Given the description of an element on the screen output the (x, y) to click on. 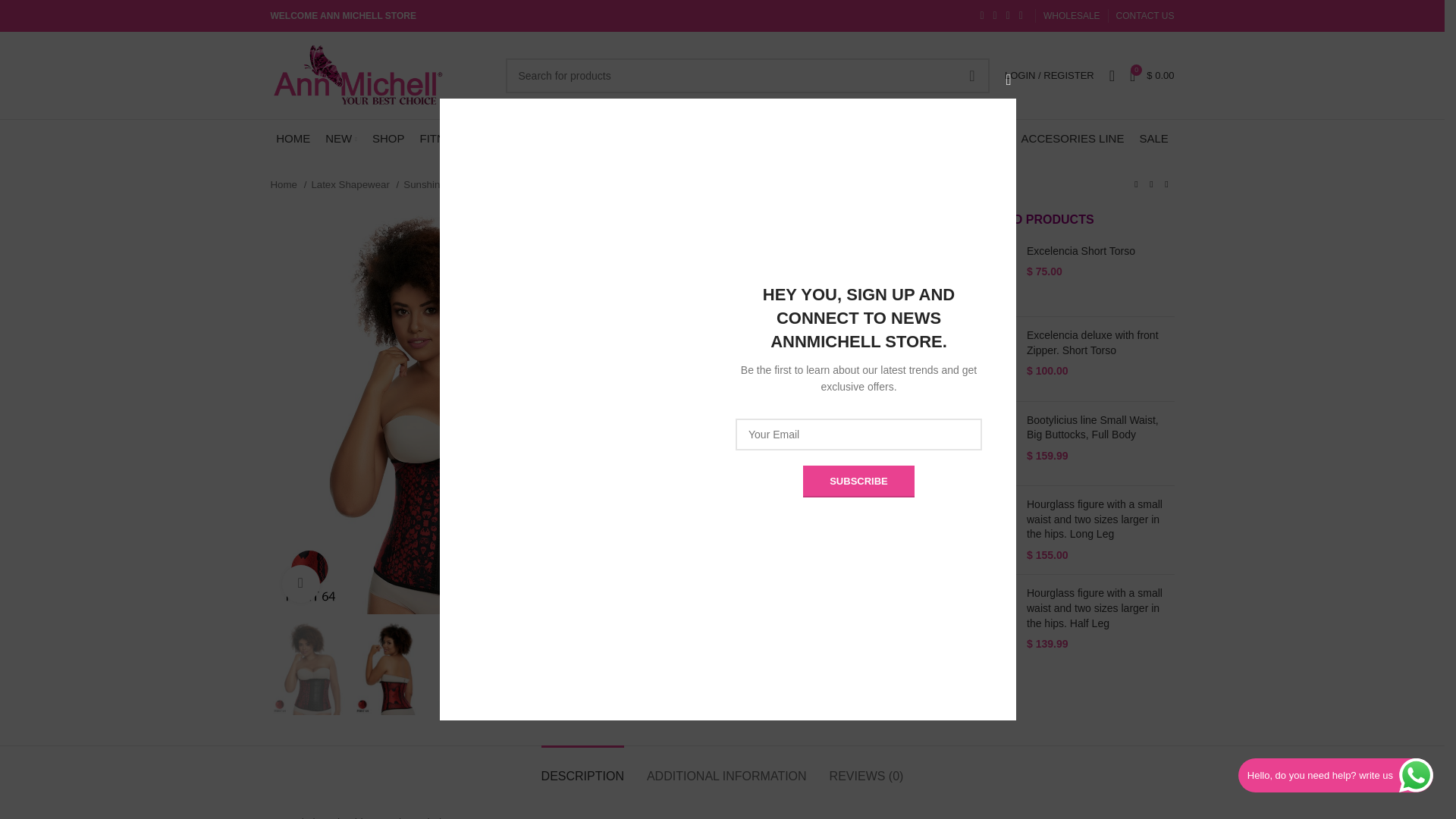
SHOP (388, 138)
SEARCH (972, 74)
CONTACT US (1145, 15)
Log in (969, 316)
HOME (293, 138)
Search for products (746, 74)
WAIST (503, 138)
subscribe (858, 481)
My account (1049, 75)
NEOPRENE (570, 138)
subscribe (858, 481)
WHOLESALE (1071, 15)
PRINTS (641, 138)
NEW (340, 138)
FITNESS (443, 138)
